Given the description of an element on the screen output the (x, y) to click on. 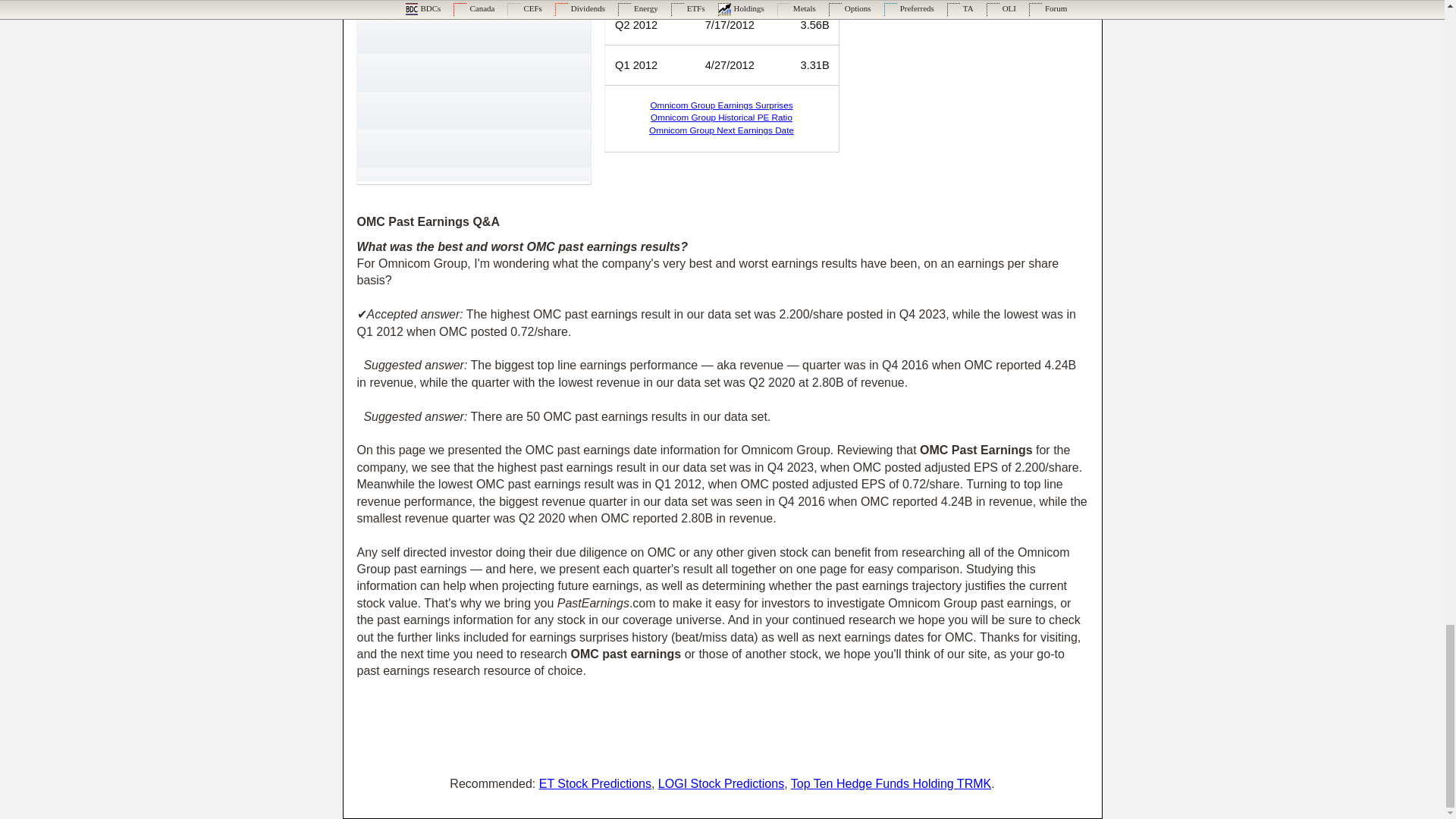
Omnicom Group Earnings Surprises (720, 104)
Top Ten Hedge Funds Holding TRMK (890, 783)
ET Stock Predictions (594, 783)
Omnicom Group Historical PE Ratio (721, 117)
LOGI Stock Predictions (721, 783)
Omnicom Group Next Earnings Date (721, 130)
